Given the description of an element on the screen output the (x, y) to click on. 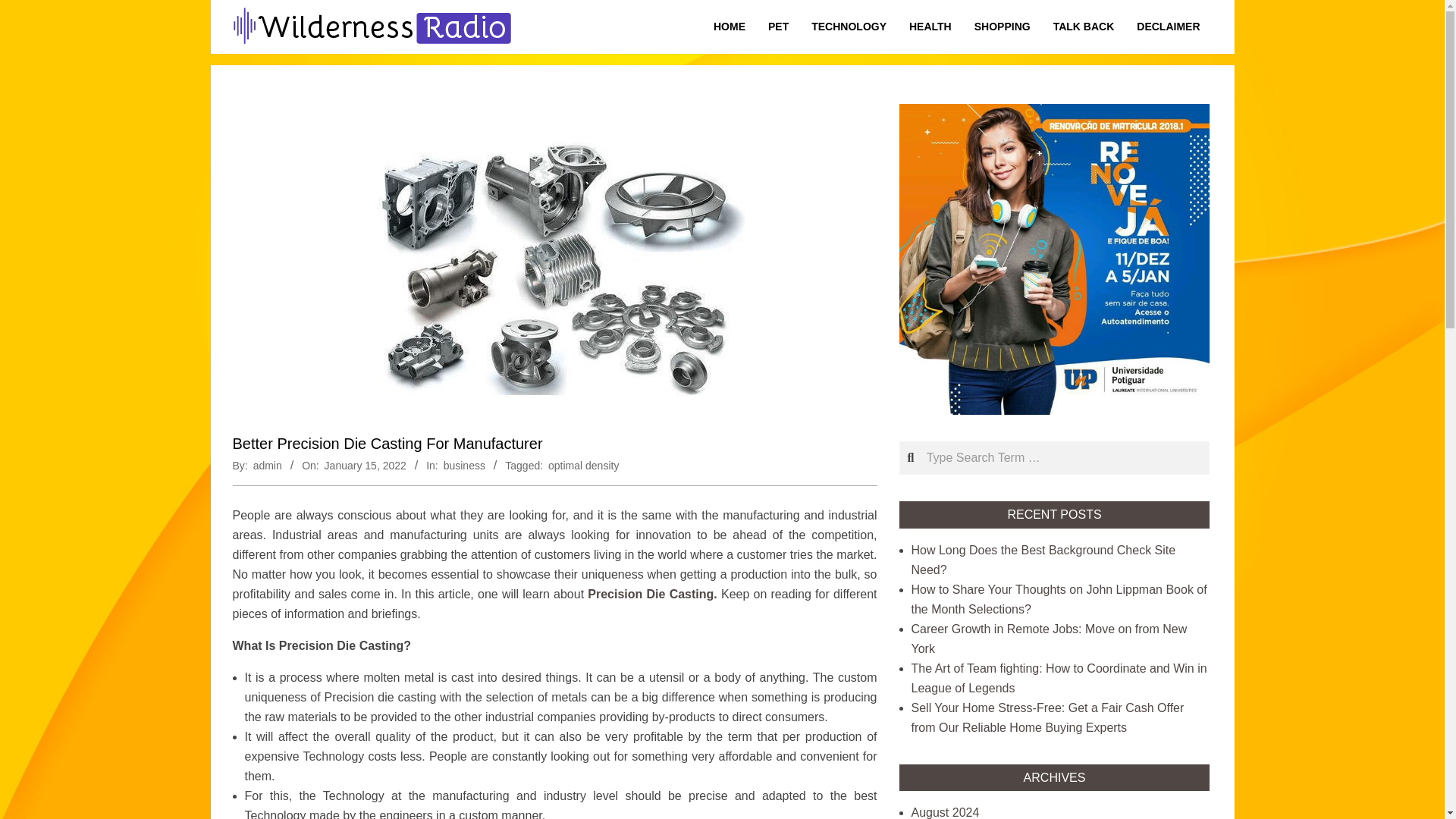
HOME (729, 26)
TECHNOLOGY (848, 26)
SHOPPING (1002, 26)
PET (778, 26)
TALK BACK (1083, 26)
Posts by admin (267, 465)
DECLAIMER (1168, 26)
optimal density (583, 465)
